Given the description of an element on the screen output the (x, y) to click on. 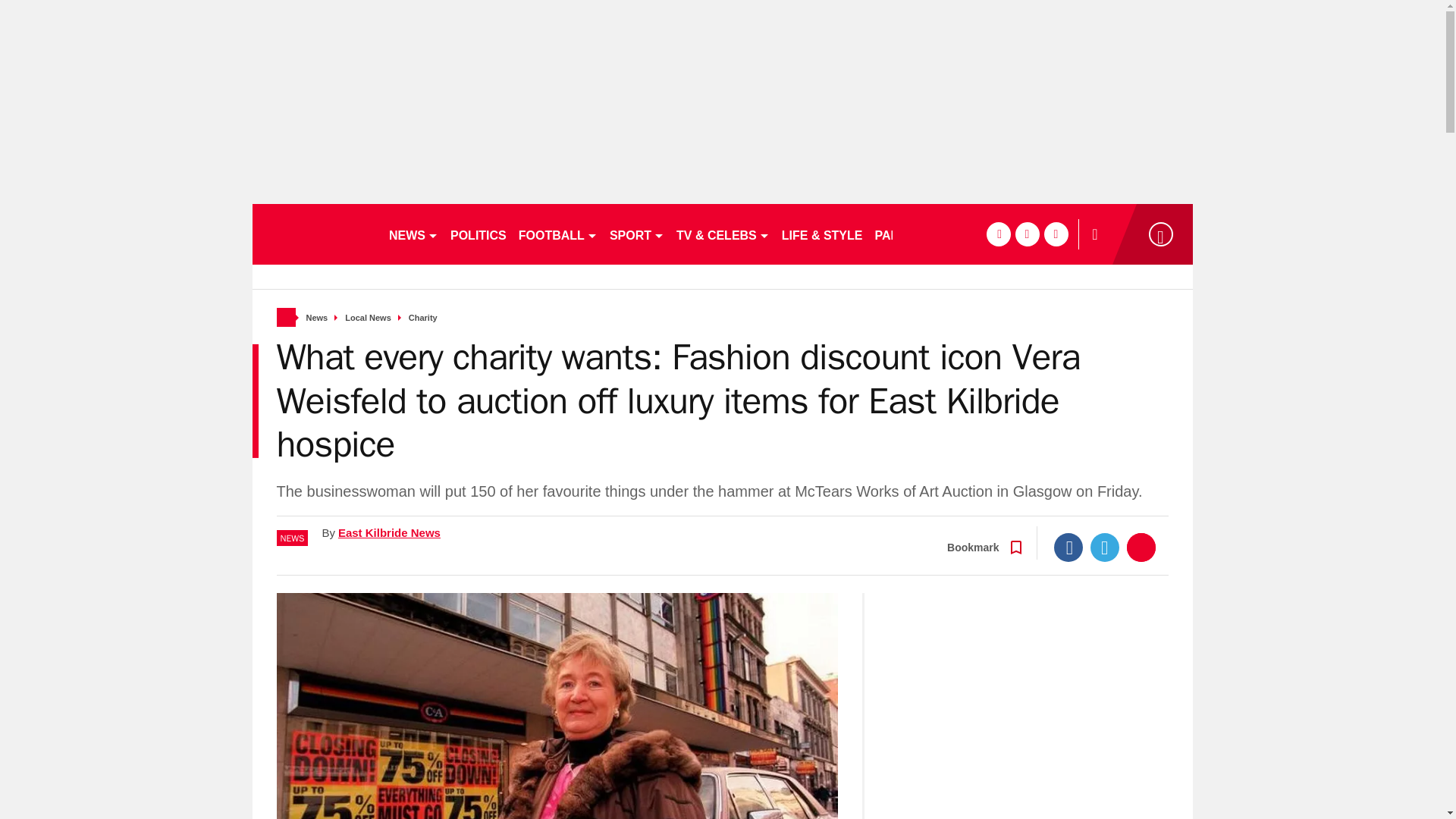
POLITICS (478, 233)
twitter (1026, 233)
Twitter (1104, 547)
Facebook (1068, 547)
dailyrecord (313, 233)
SPORT (636, 233)
FOOTBALL (558, 233)
instagram (1055, 233)
NEWS (413, 233)
facebook (997, 233)
